Given the description of an element on the screen output the (x, y) to click on. 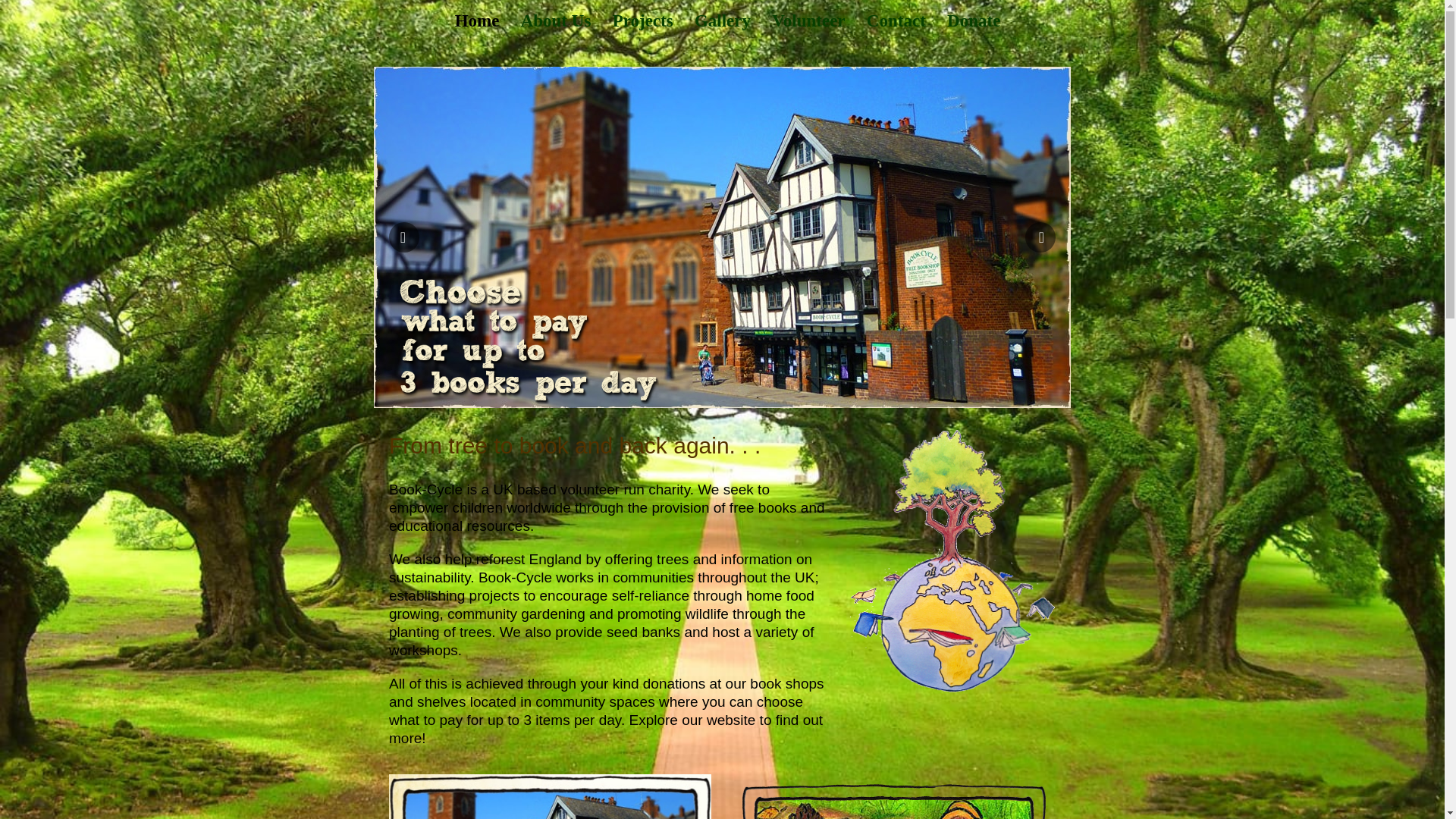
Home (476, 20)
About Us (556, 20)
Volunteer (807, 20)
Projects (642, 20)
Contact (896, 20)
Donate (973, 20)
Gallery (722, 20)
